Given the description of an element on the screen output the (x, y) to click on. 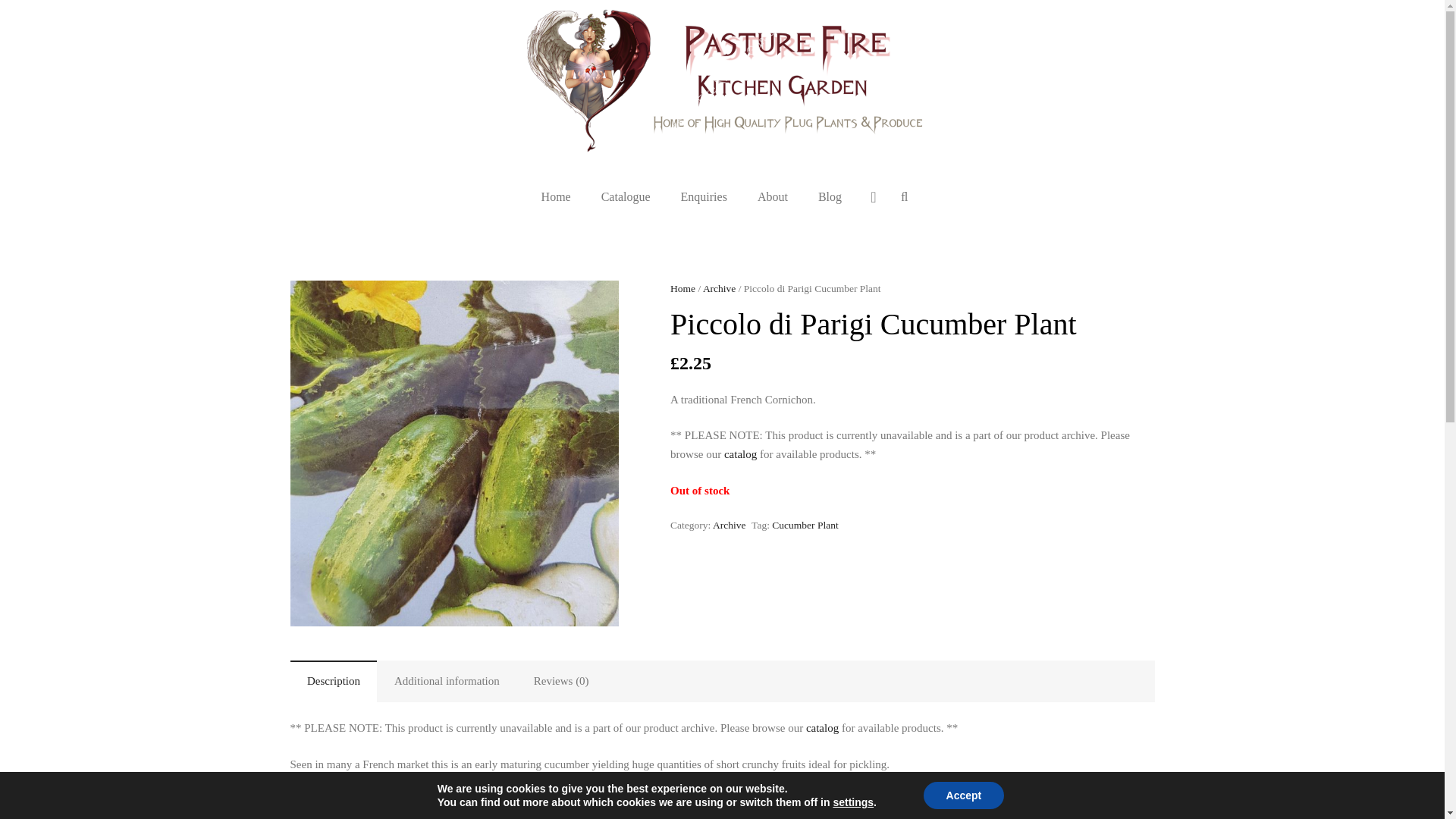
Archive (729, 524)
catalog (740, 453)
settings (852, 802)
Description (333, 680)
Cucumber Plant (804, 524)
Enquiries (703, 197)
Blog (830, 197)
Home (682, 288)
Archive (719, 288)
Catalogue (625, 197)
About (772, 197)
Accept (963, 795)
catalog (822, 727)
Piccolo di Parigi (453, 453)
Additional information (446, 680)
